Given the description of an element on the screen output the (x, y) to click on. 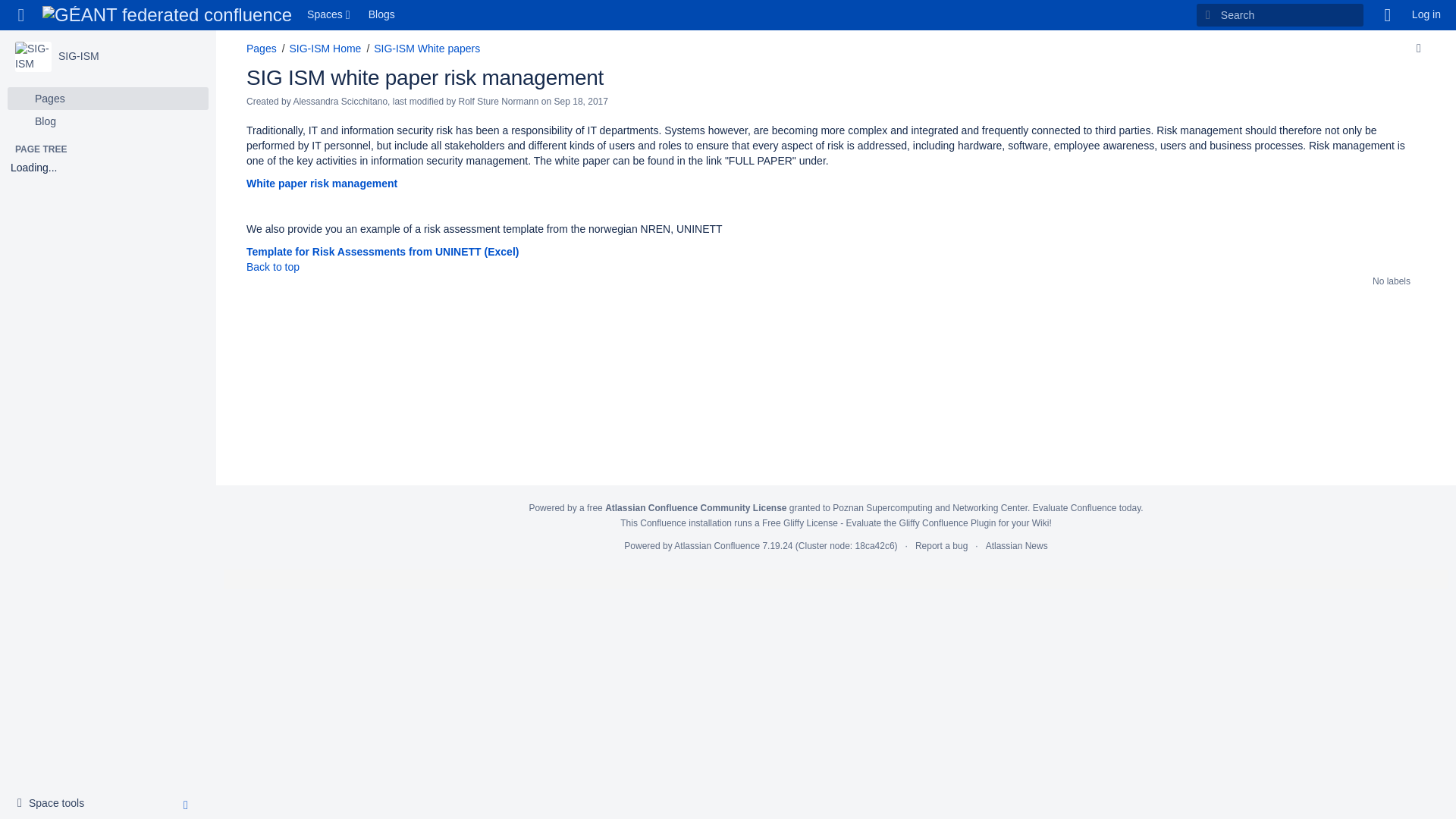
Log in (1426, 15)
SIG-ISM (78, 55)
Pages (54, 803)
SIG-ISM (107, 97)
Help (78, 55)
Help (1388, 15)
Blogs (1388, 15)
Spaces (382, 15)
Blog (330, 15)
SIG-ISM (107, 120)
Spaces (32, 56)
Linked Applications (330, 15)
